Given the description of an element on the screen output the (x, y) to click on. 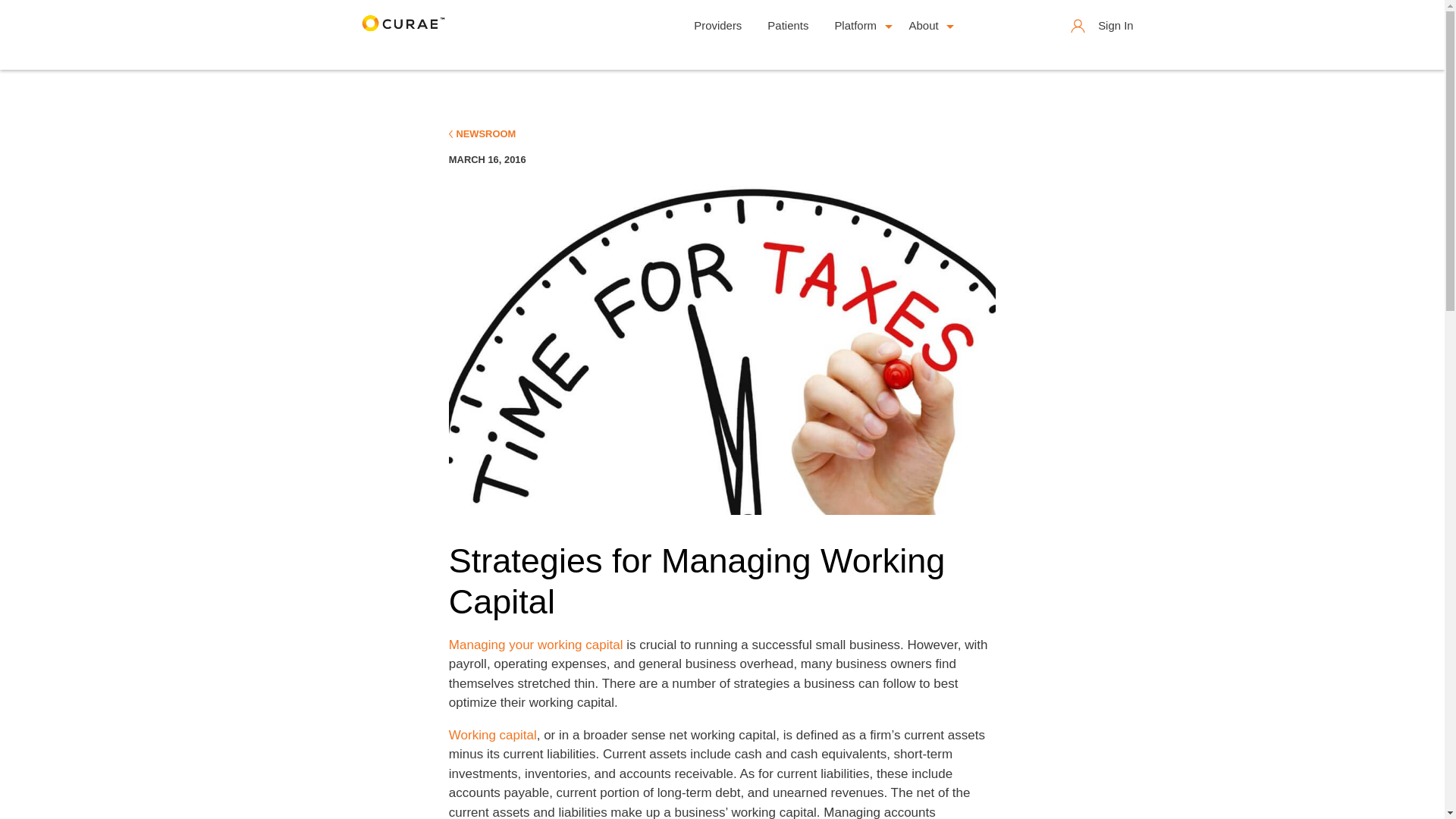
Patients (787, 25)
Working capital (492, 735)
NEWSROOM (481, 133)
Platform (858, 25)
Providers (717, 25)
Sign In (1102, 25)
About (927, 25)
Managing your working capital (535, 644)
